Given the description of an element on the screen output the (x, y) to click on. 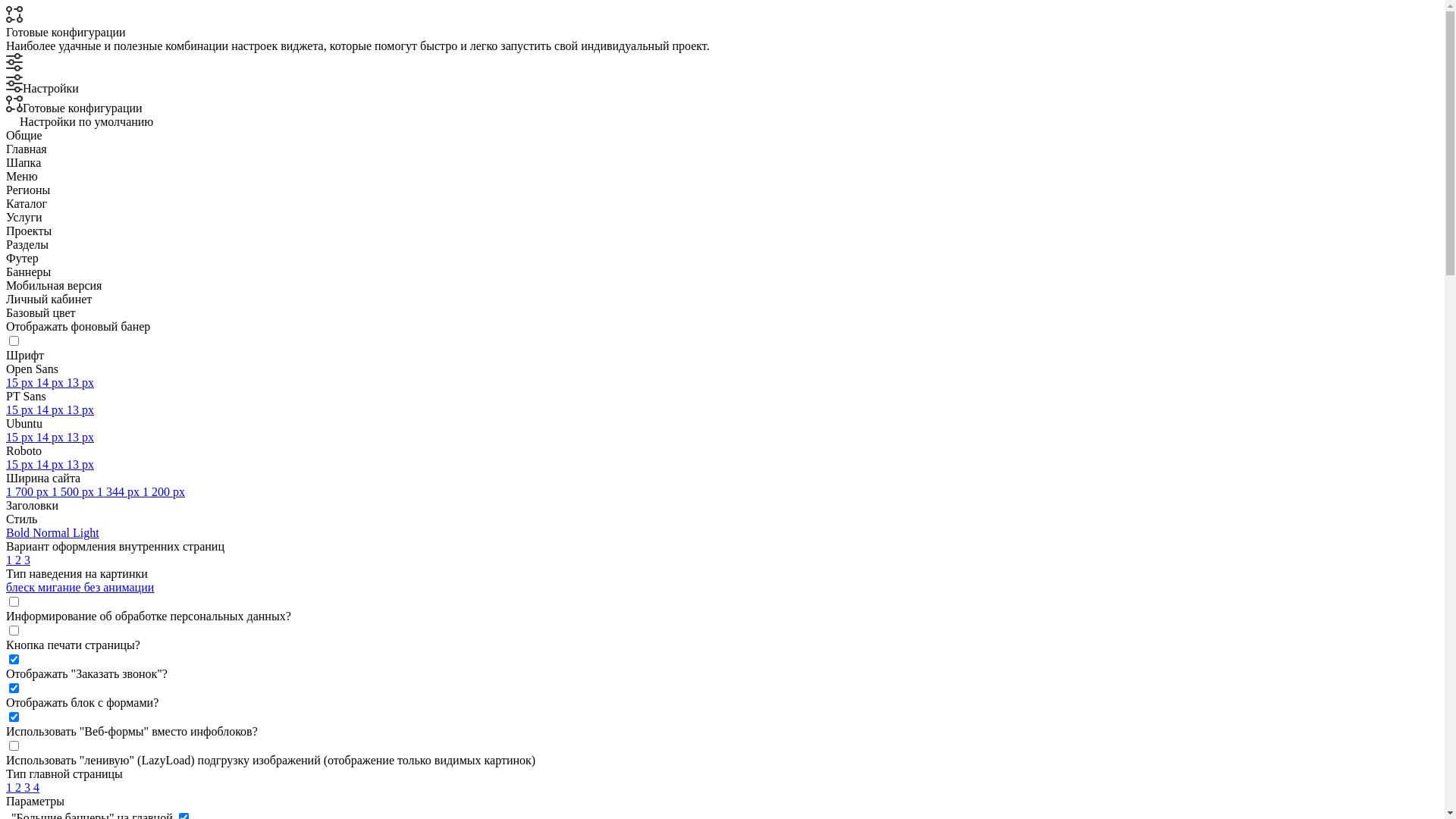
1 Element type: text (10, 559)
13 px Element type: text (80, 382)
14 px Element type: text (51, 436)
14 px Element type: text (51, 464)
13 px Element type: text (80, 436)
4 Element type: text (36, 787)
13 px Element type: text (80, 409)
Light Element type: text (85, 532)
15 px Element type: text (21, 436)
15 px Element type: text (21, 464)
14 px Element type: text (51, 382)
15 px Element type: text (21, 382)
3 Element type: text (27, 559)
2 Element type: text (19, 559)
1 500 px Element type: text (74, 491)
15 px Element type: text (21, 409)
2 Element type: text (19, 787)
1 200 px Element type: text (163, 491)
1 Element type: text (10, 787)
Normal Element type: text (52, 532)
13 px Element type: text (80, 464)
14 px Element type: text (51, 409)
Bold Element type: text (19, 532)
1 700 px Element type: text (28, 491)
1 344 px Element type: text (119, 491)
3 Element type: text (28, 787)
